Given the description of an element on the screen output the (x, y) to click on. 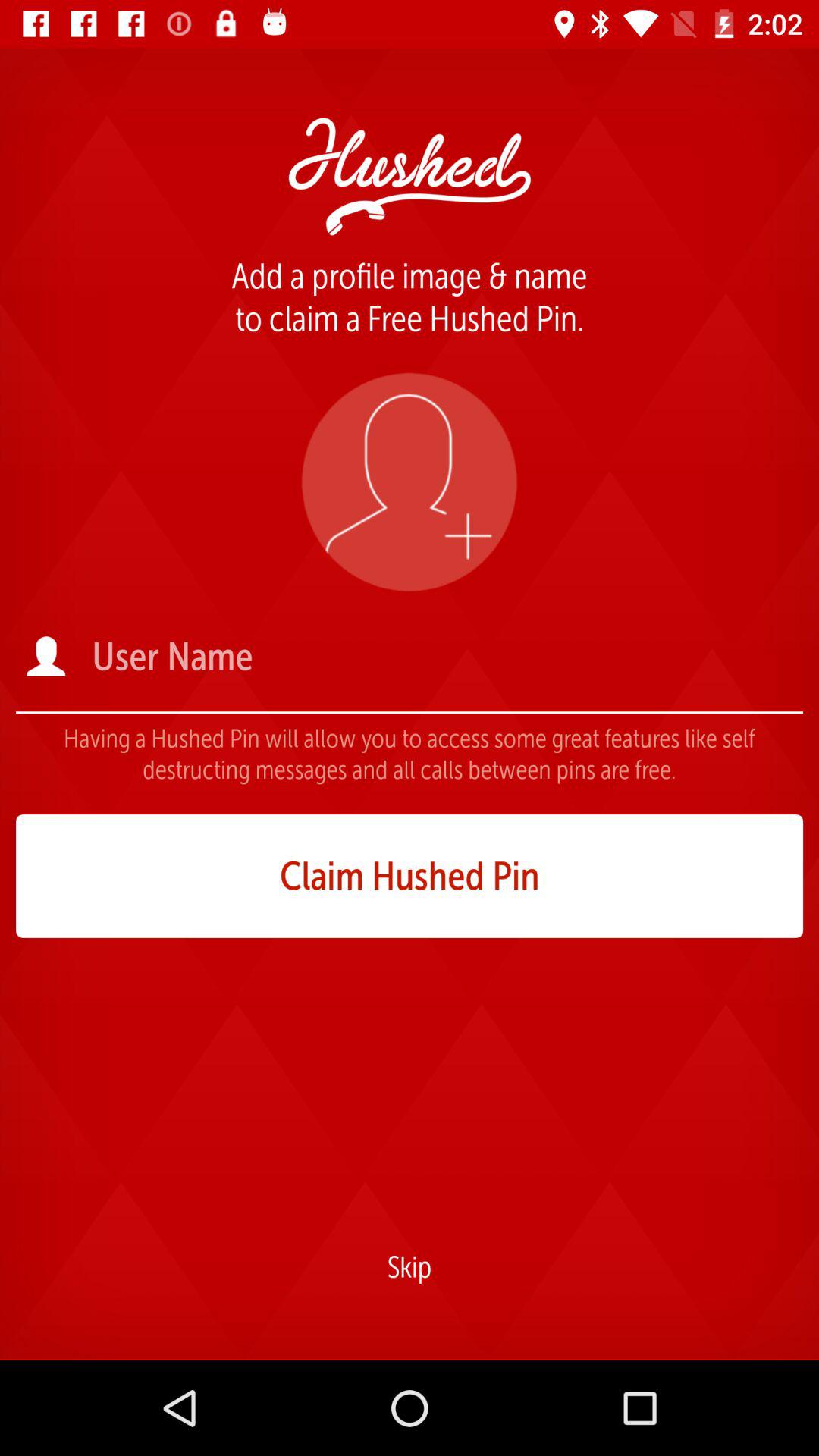
add profile picture (408, 481)
